Given the description of an element on the screen output the (x, y) to click on. 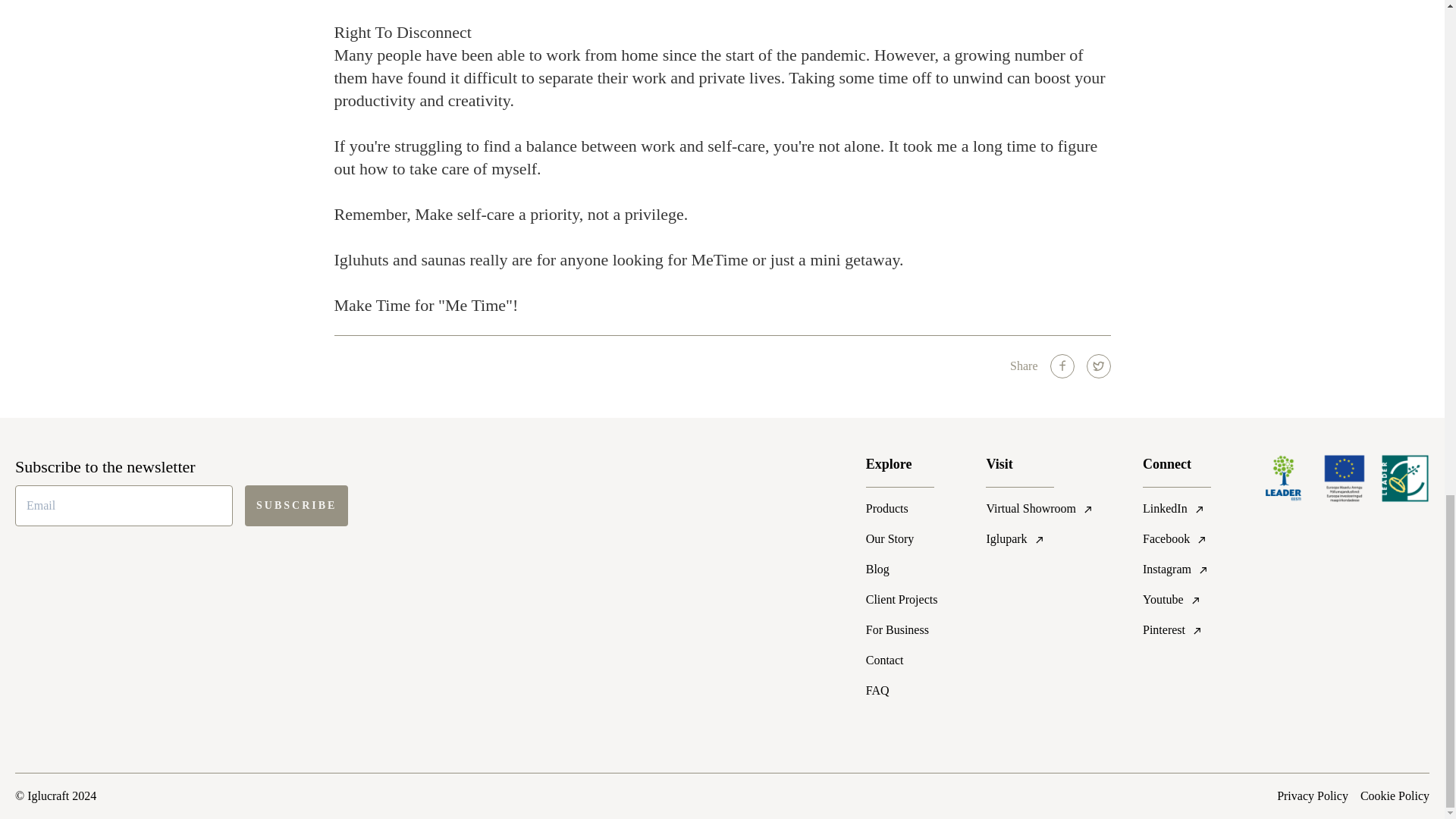
Facebook (1176, 538)
For Business (901, 629)
Client Projects (901, 599)
Virtual Showroom (1039, 508)
Youtube (1176, 599)
SUBSCRIBE (295, 505)
Cookie Policy (1394, 796)
Iglupark (1039, 538)
Pinterest (1176, 629)
Contact (901, 660)
Privacy Policy (1312, 796)
LinkedIn (1176, 508)
Instagram (1176, 569)
Our Story (901, 538)
Products (901, 508)
